Given the description of an element on the screen output the (x, y) to click on. 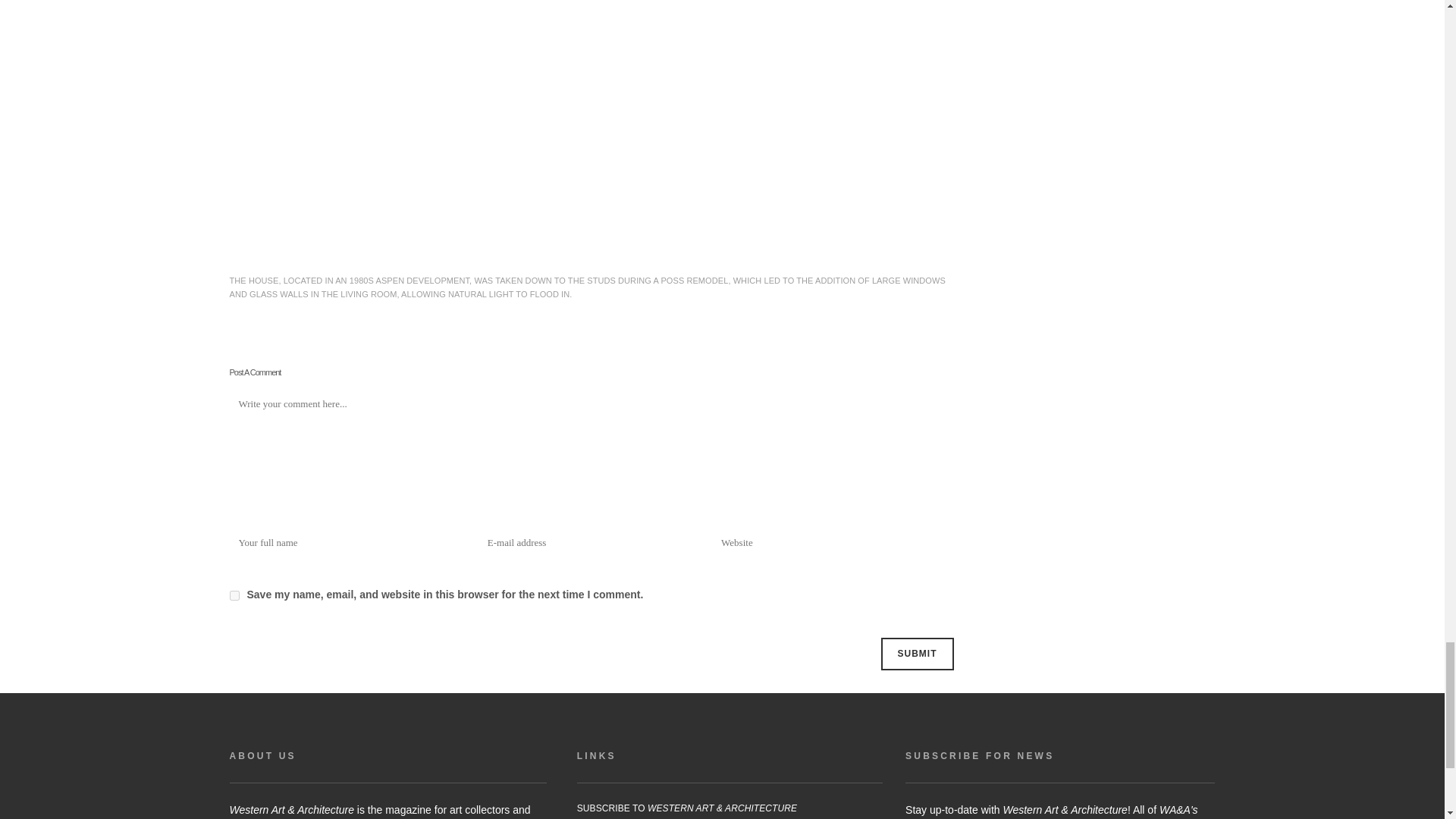
yes (233, 595)
Submit (916, 654)
